Given the description of an element on the screen output the (x, y) to click on. 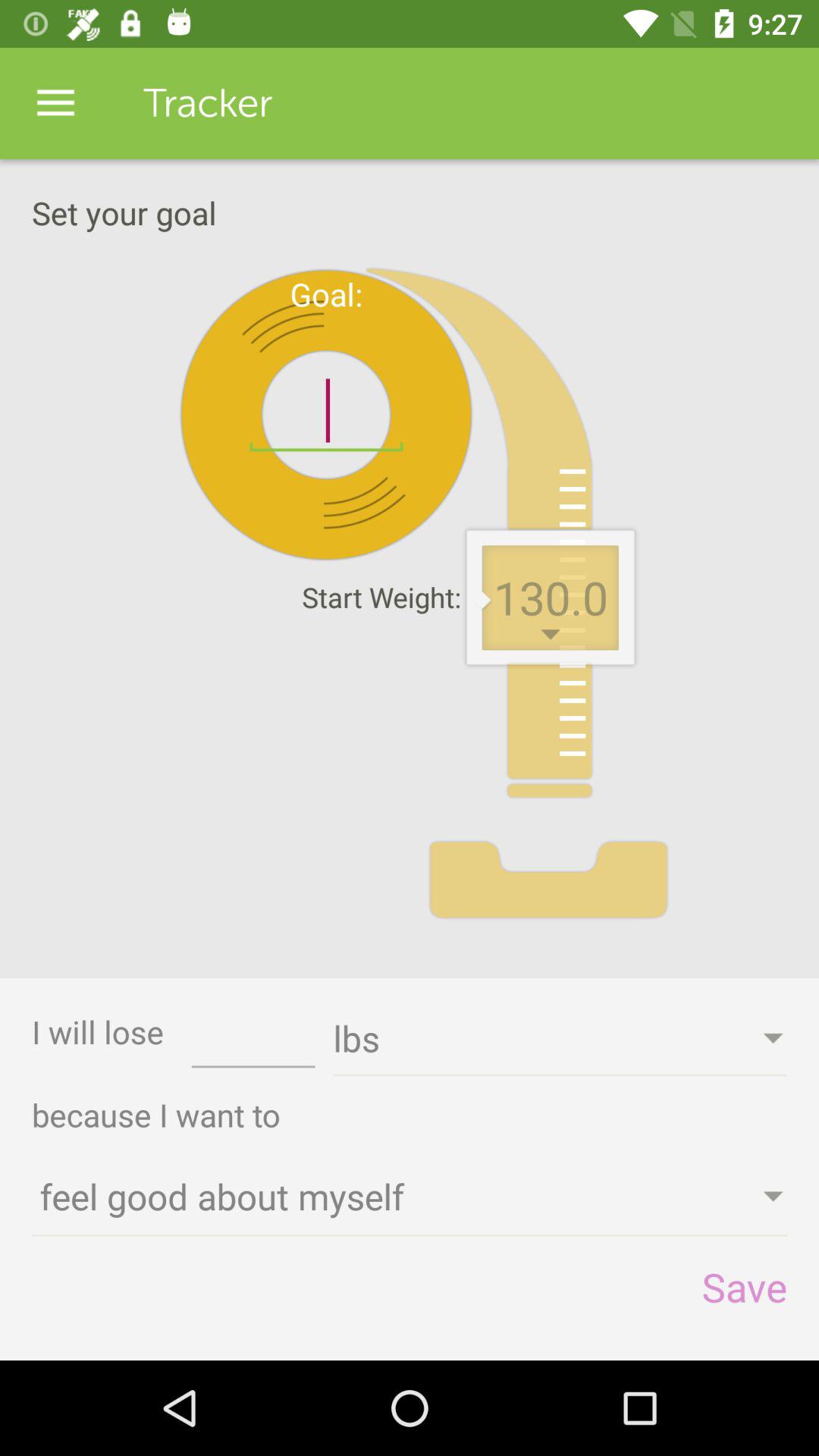
click the item above because i want item (253, 1043)
